Given the description of an element on the screen output the (x, y) to click on. 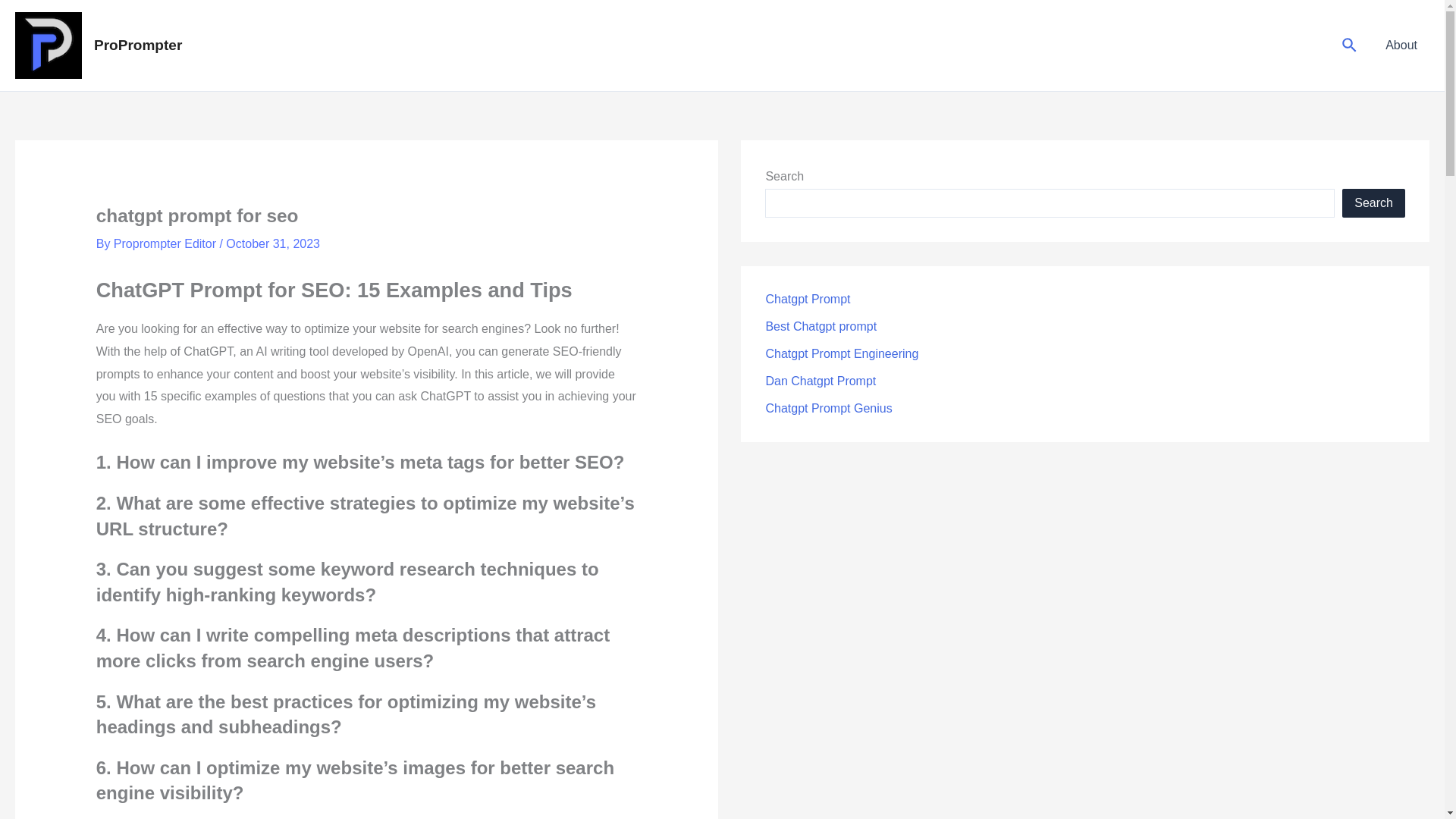
ProPrompter (138, 44)
About (1401, 45)
Proprompter Editor (166, 243)
View all posts by Proprompter Editor (166, 243)
